Given the description of an element on the screen output the (x, y) to click on. 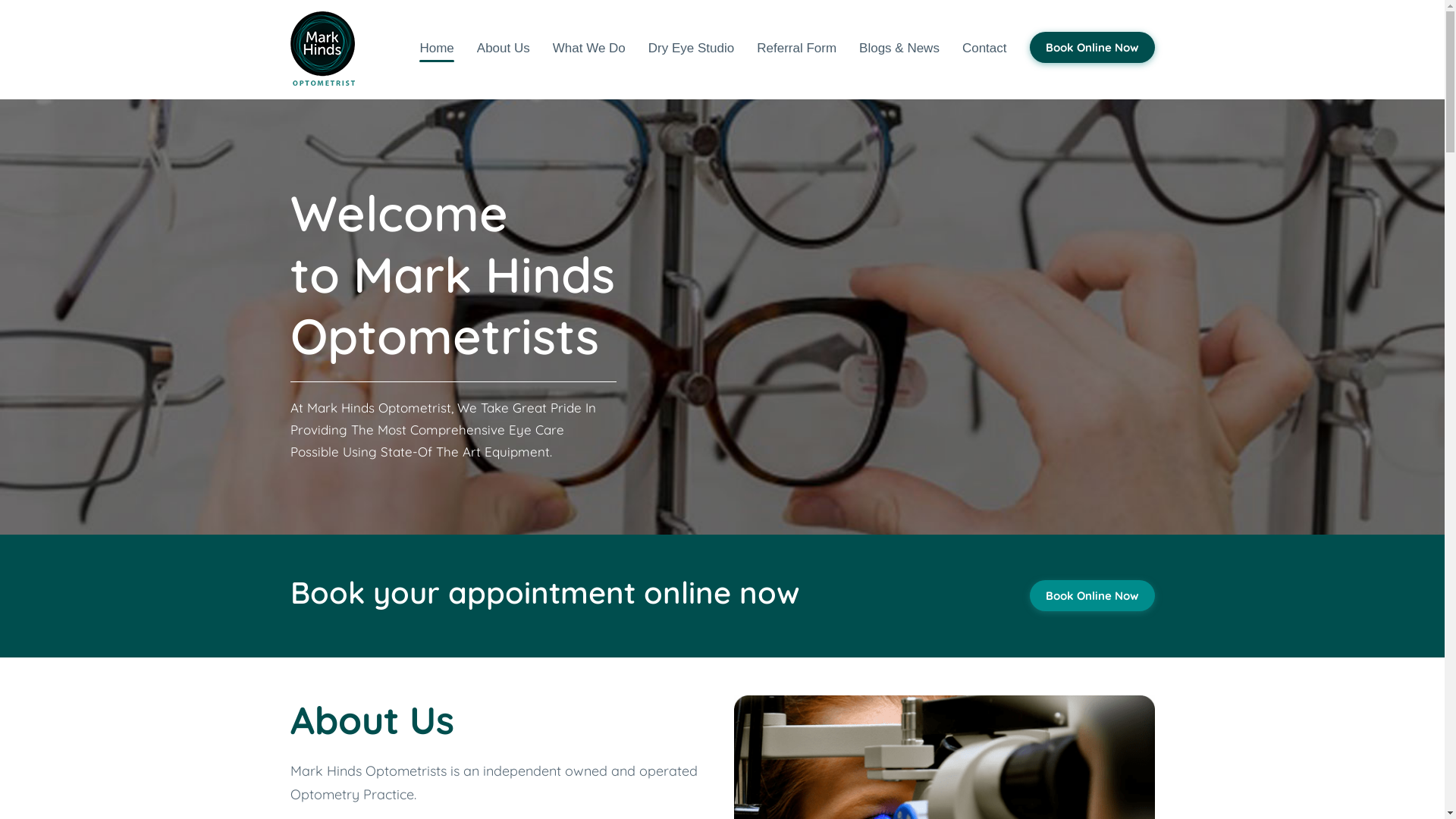
Contact Element type: text (984, 47)
Blogs & News Element type: text (899, 47)
About Us Element type: text (503, 47)
Book Online Now Element type: text (1091, 595)
Book Online Now Element type: text (1091, 46)
Dry Eye Studio Element type: text (691, 47)
Referral Form Element type: text (796, 47)
What We Do Element type: text (588, 47)
Home Element type: text (436, 47)
